Given the description of an element on the screen output the (x, y) to click on. 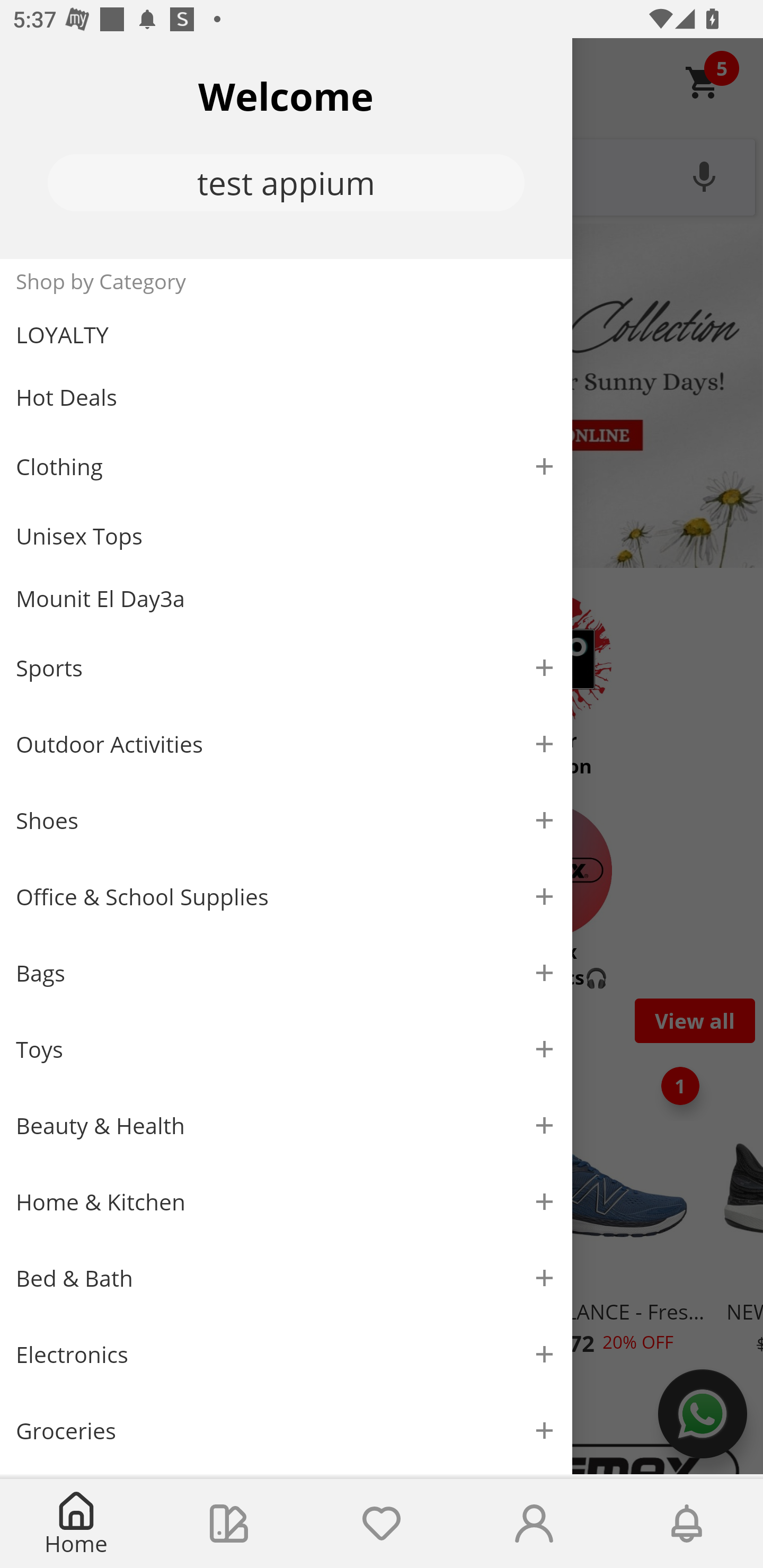
Welcome test appium (286, 147)
What are you looking for? (381, 175)
LOYALTY (286, 334)
Hot Deals (286, 396)
Clothing (286, 466)
Unisex Tops (286, 535)
Mounit El Day3a (286, 598)
Sports (286, 667)
Outdoor Activities (286, 743)
Shoes (286, 820)
Office & School Supplies (286, 896)
Bags (286, 972)
Toys (286, 1049)
Beauty & Health (286, 1125)
Home & Kitchen (286, 1201)
Bed & Bath (286, 1278)
Electronics (286, 1354)
Groceries (286, 1430)
Collections (228, 1523)
Wishlist (381, 1523)
Account (533, 1523)
Notifications (686, 1523)
